Given the description of an element on the screen output the (x, y) to click on. 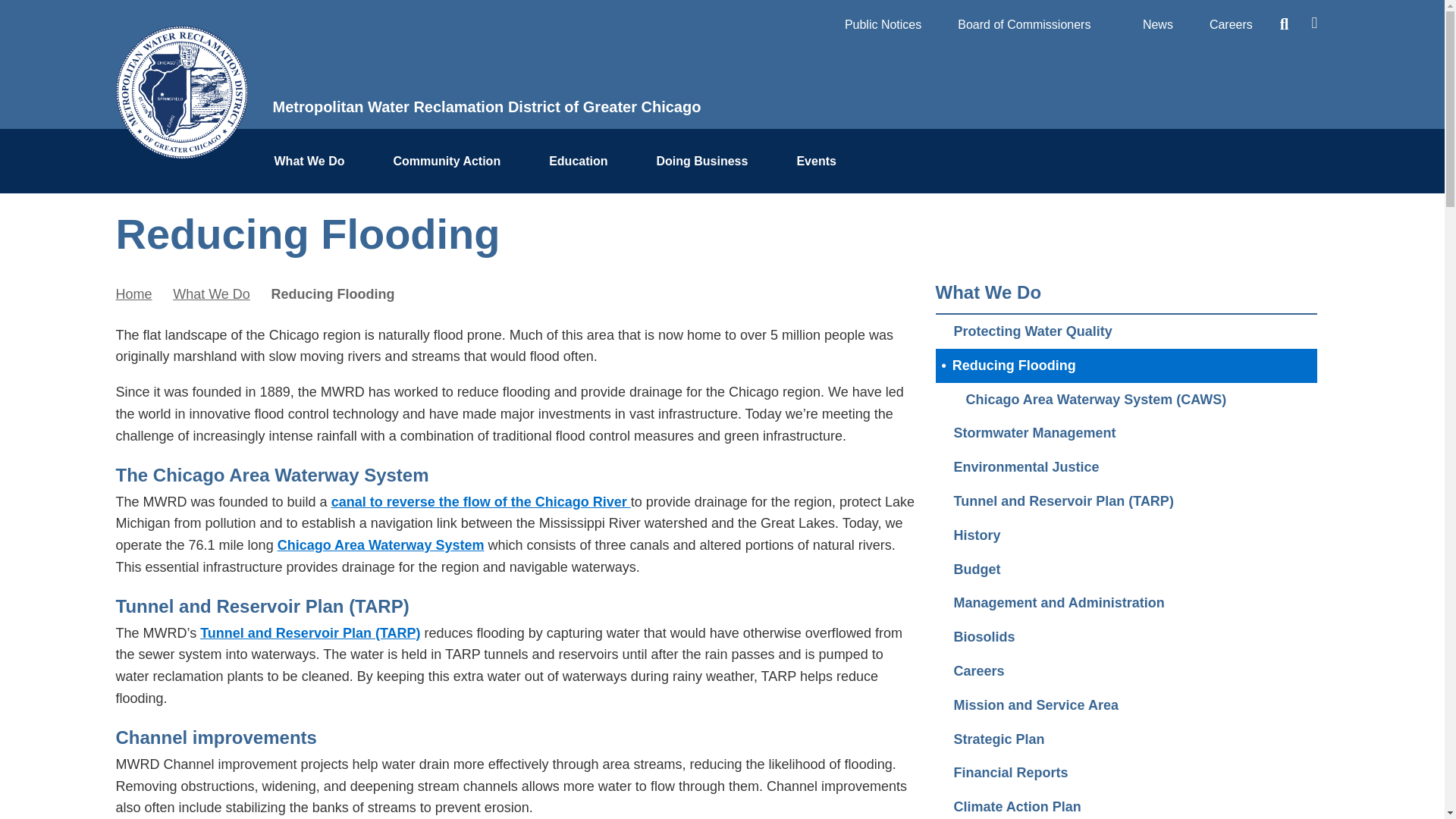
Share to Linkedin (1213, 226)
Environmental Justice (1126, 467)
Translate (1313, 15)
Careers (1231, 24)
Public Notices (883, 24)
Share to X (1167, 226)
What We Do (315, 161)
News (1157, 24)
Board of Commissioners (1031, 24)
